Given the description of an element on the screen output the (x, y) to click on. 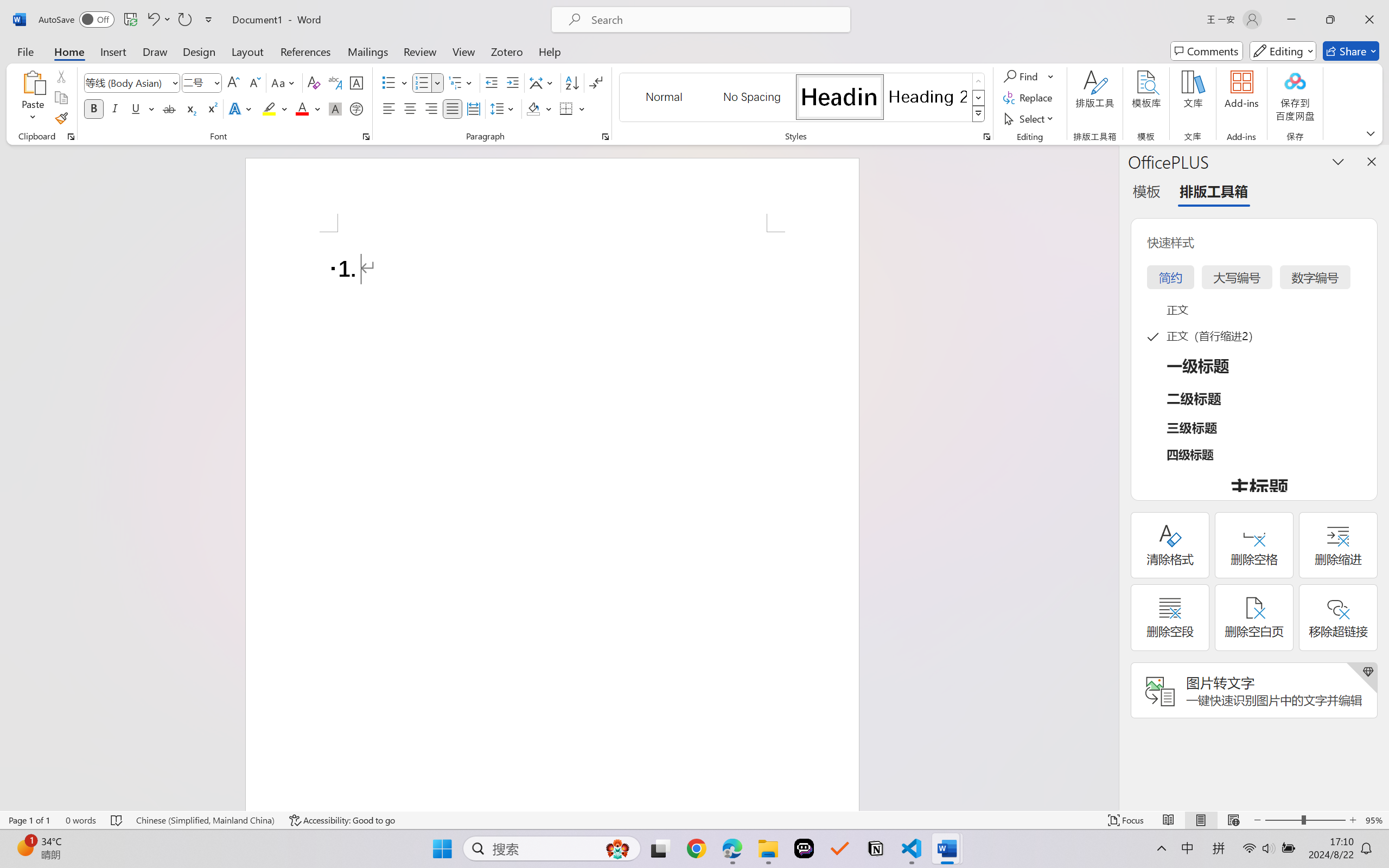
Undo Number Default (152, 19)
